Given the description of an element on the screen output the (x, y) to click on. 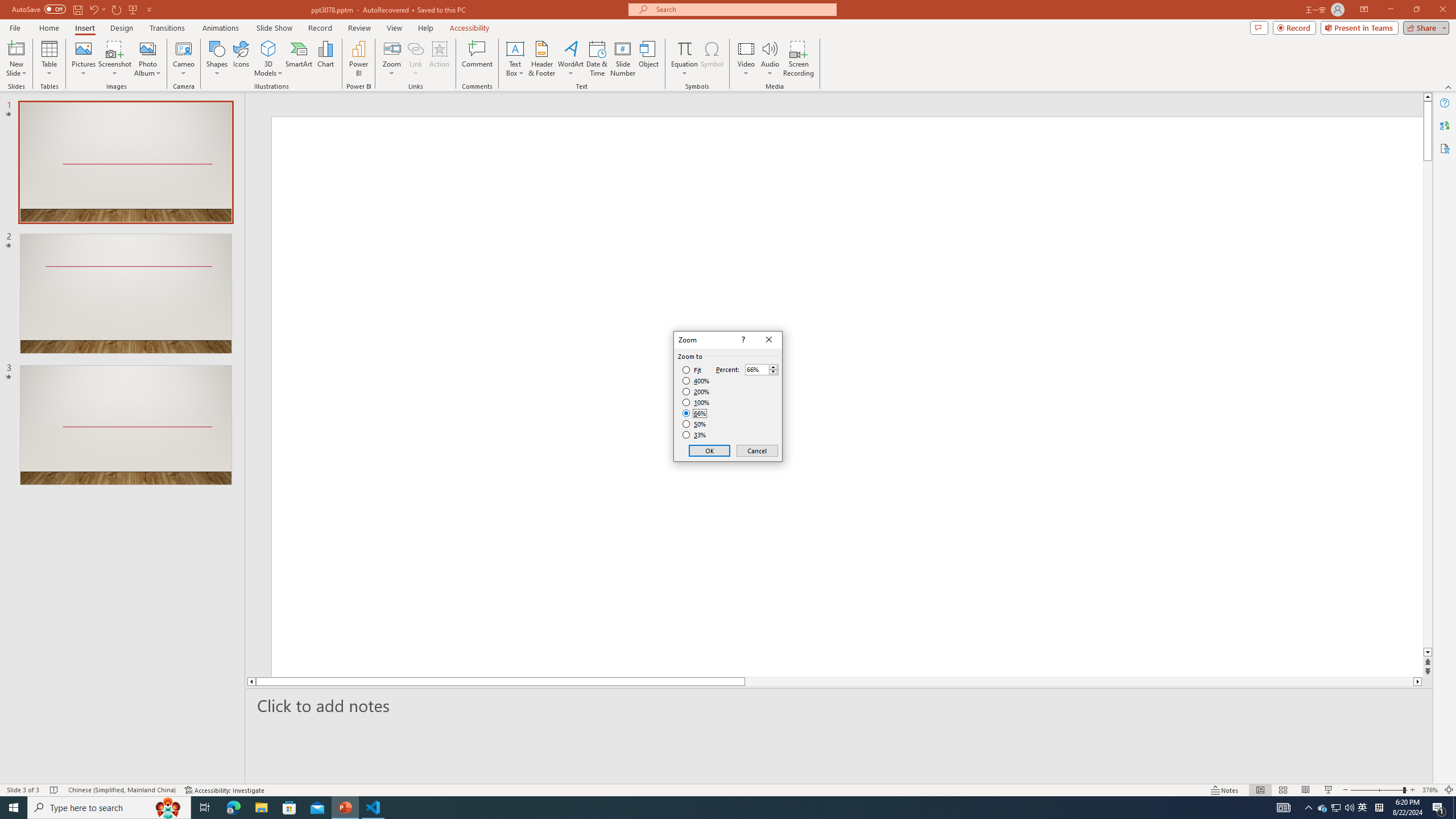
Visual Studio Code - 1 running window (373, 807)
